Given the description of an element on the screen output the (x, y) to click on. 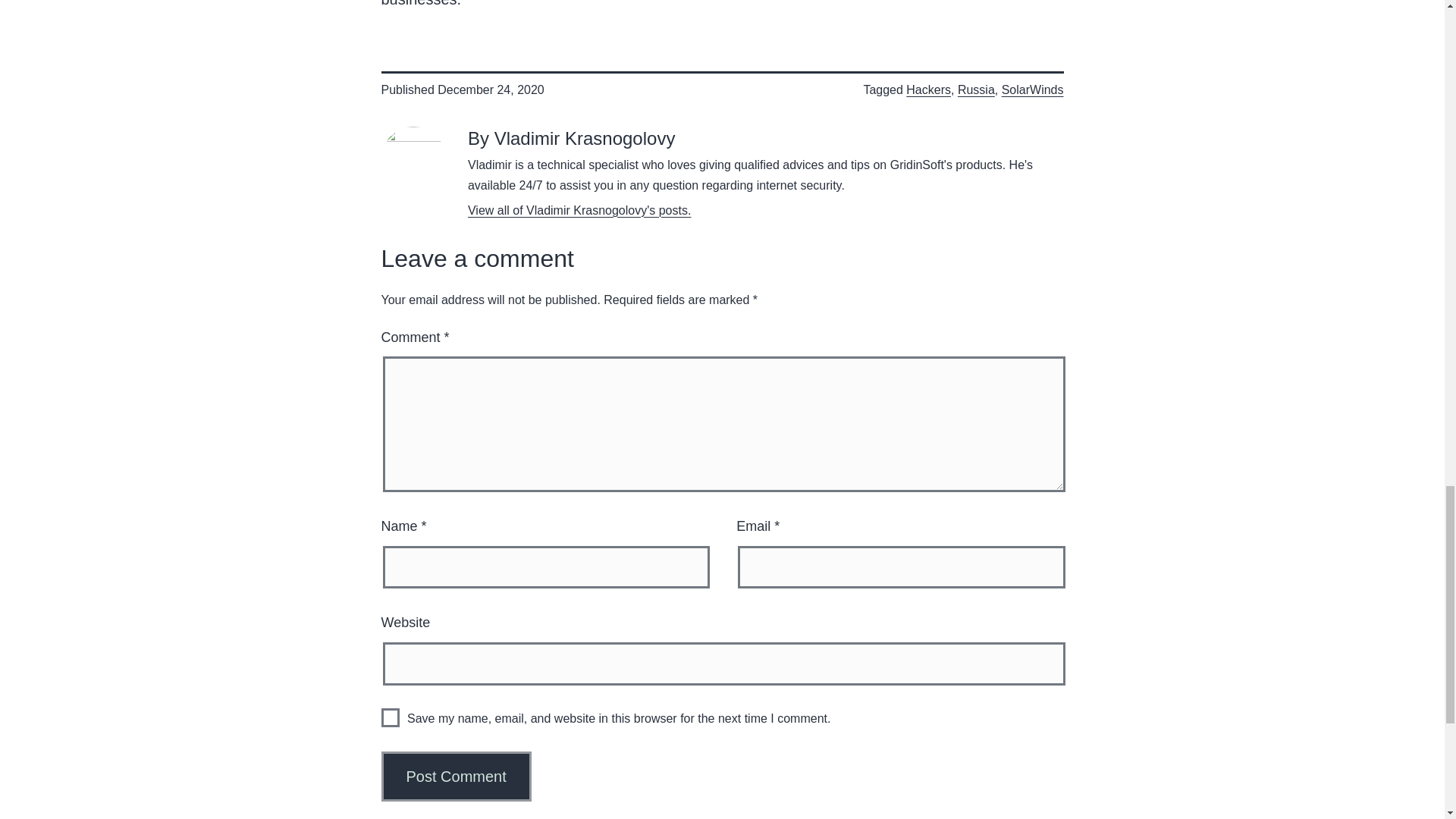
yes (389, 717)
SolarWinds (1032, 89)
Post Comment (455, 776)
Post Comment (455, 776)
Russia (976, 89)
Hackers (927, 89)
View all of Vladimir Krasnogolovy's posts. (578, 209)
